Given the description of an element on the screen output the (x, y) to click on. 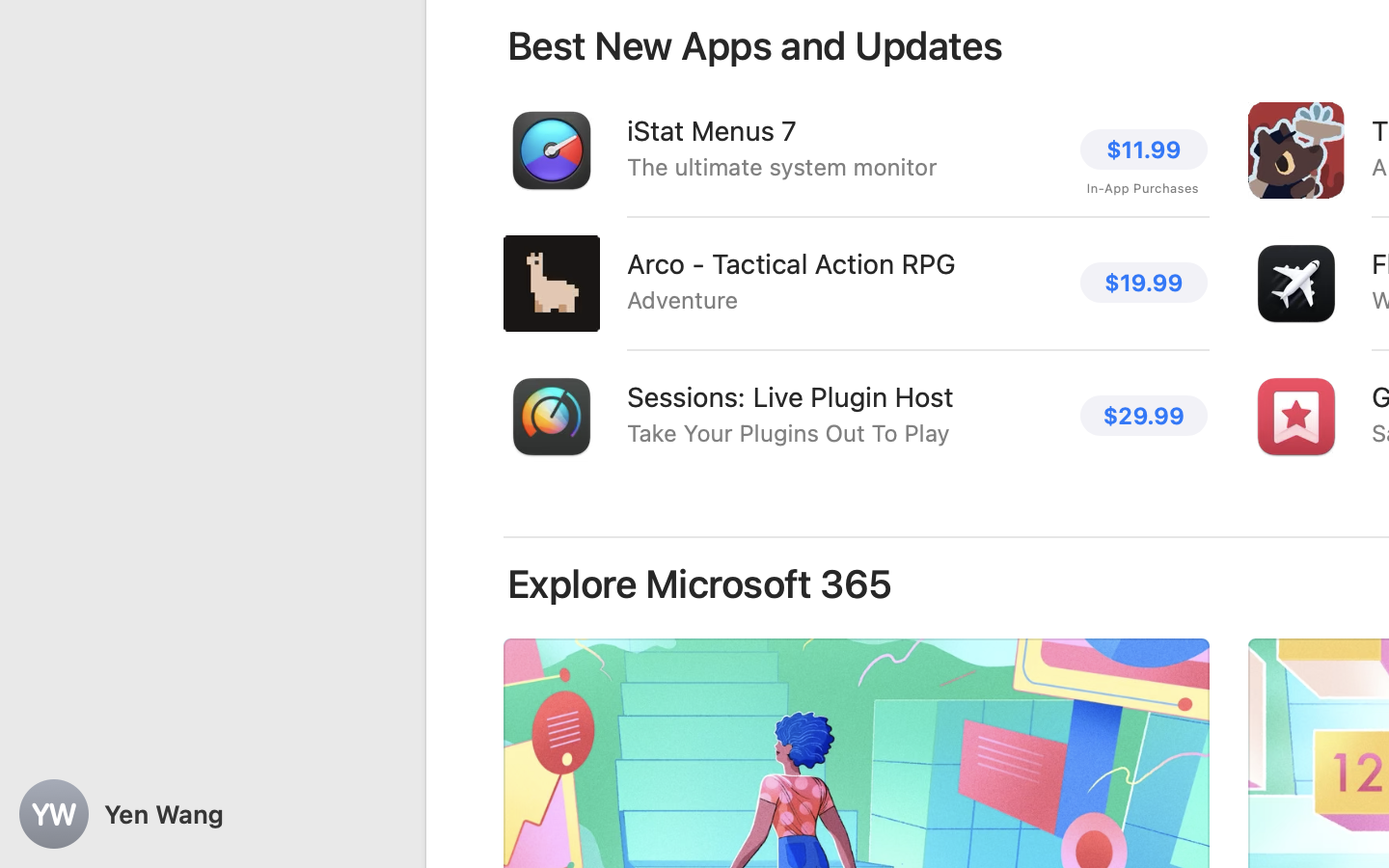
Best New Apps and Updates Element type: AXStaticText (755, 46)
Yen Wang Element type: AXButton (212, 813)
